Given the description of an element on the screen output the (x, y) to click on. 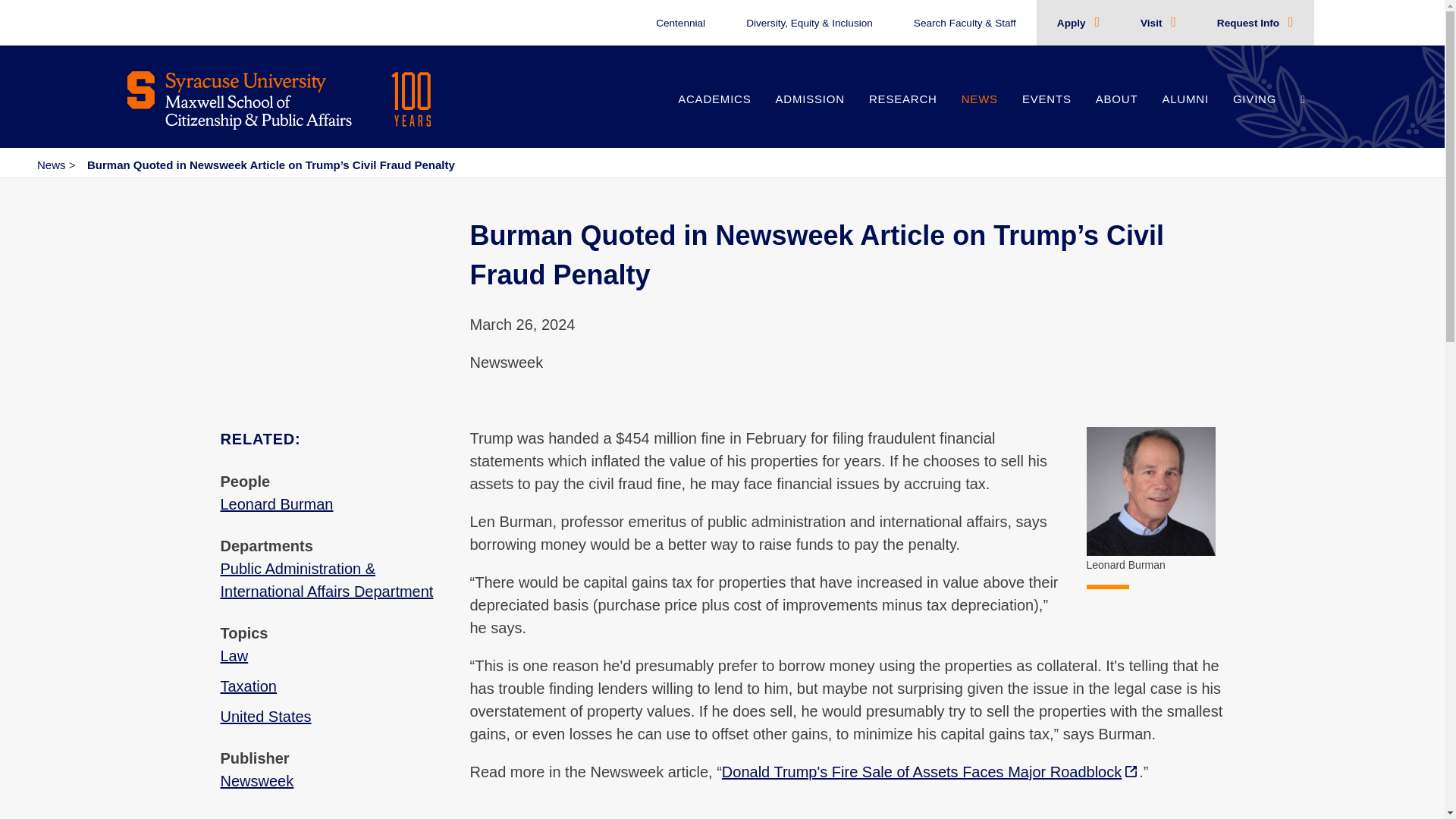
Request Info (1249, 22)
Centennial (680, 22)
ADMISSION (809, 114)
NEWS (979, 114)
EVENTS (1046, 114)
ALUMNI (1185, 114)
GIVING (1254, 114)
RESEARCH (903, 114)
Apply (1073, 22)
Visit (1152, 22)
ACADEMICS (713, 114)
ABOUT (1116, 114)
